Given the description of an element on the screen output the (x, y) to click on. 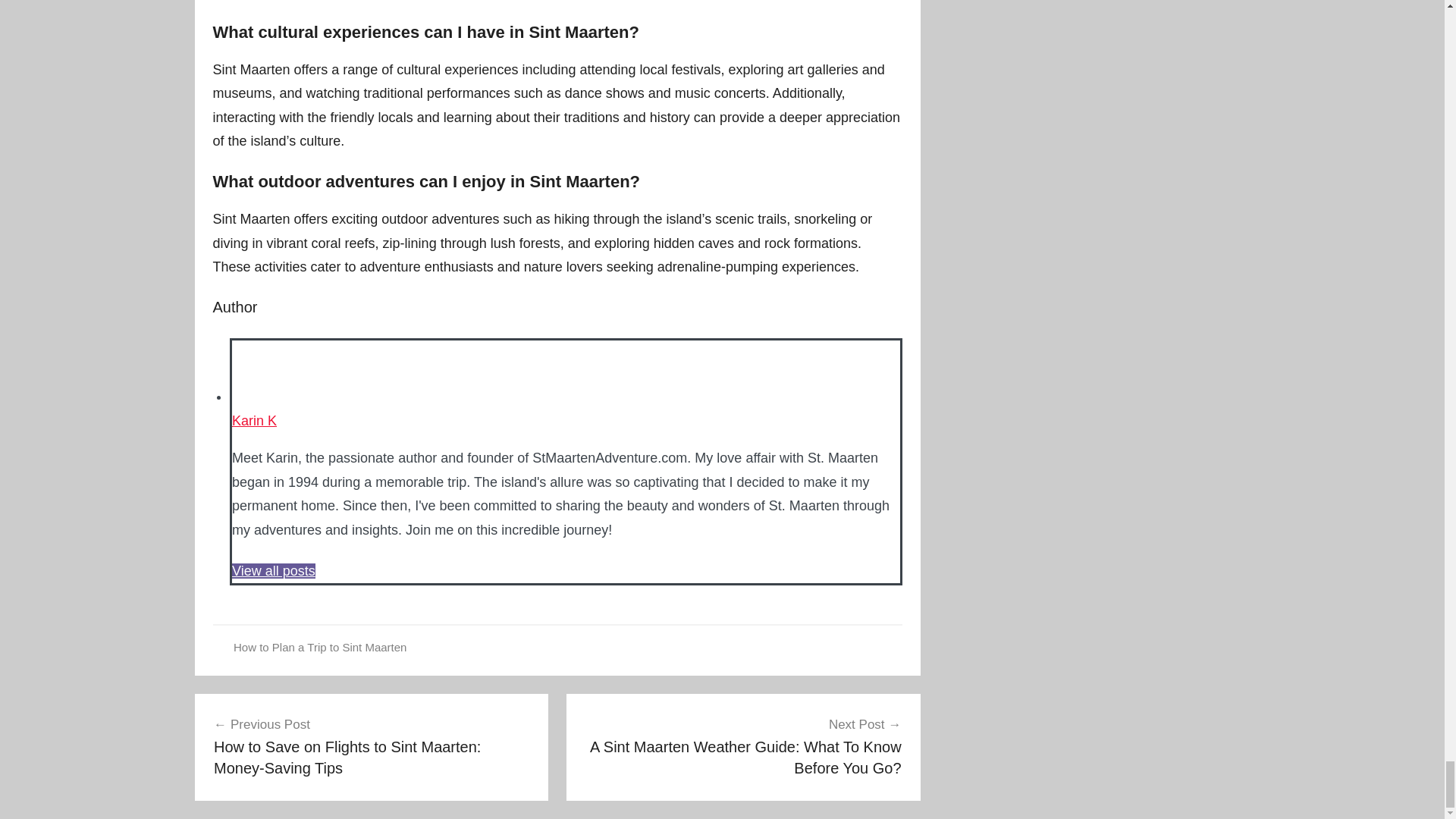
View all posts (273, 570)
Karin K (253, 419)
